Given the description of an element on the screen output the (x, y) to click on. 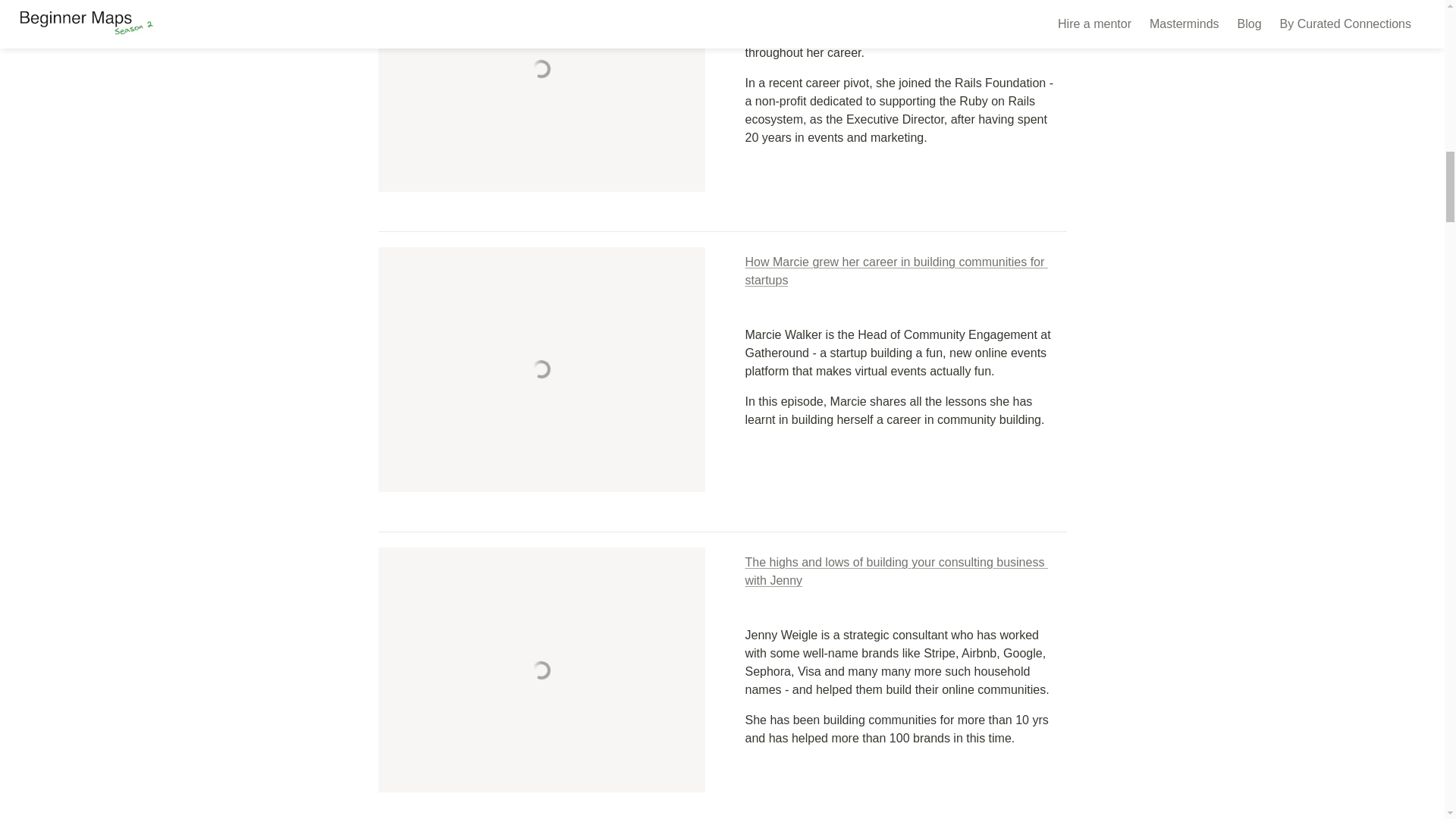
www.youtube.com (540, 369)
www.youtube.com (540, 95)
www.youtube.com (540, 669)
